Given the description of an element on the screen output the (x, y) to click on. 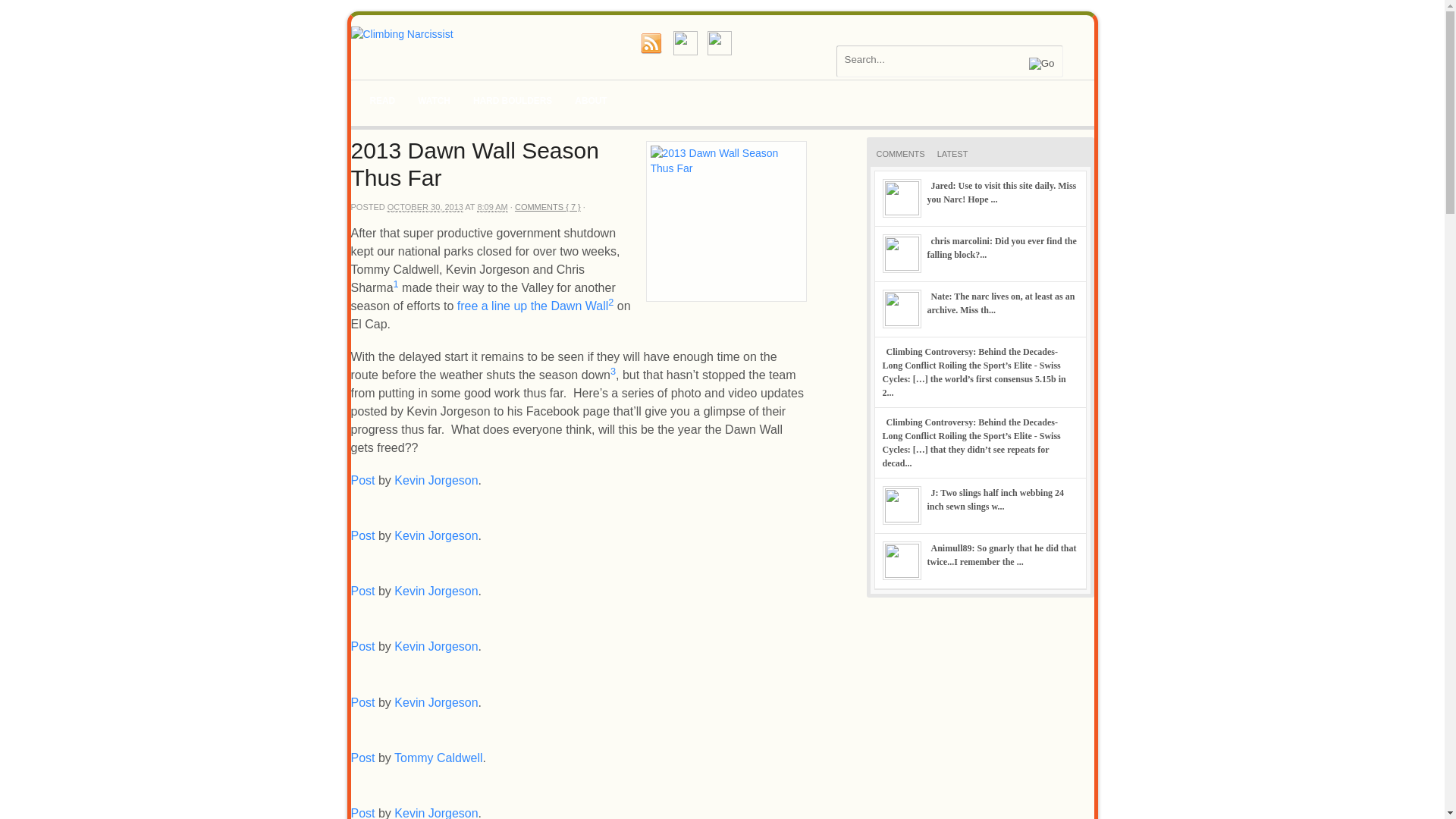
Follow us on Twitter (684, 43)
Tommy Caldwell (437, 757)
Kevin Jorgeson (435, 590)
Kevin Jorgeson (435, 645)
Go (1041, 63)
Subscribe to our RSS feed (650, 43)
Search... (940, 58)
2013-10-30T08:09:43-0600 (425, 207)
Kevin Jorgeson (435, 702)
Post (362, 590)
